Given the description of an element on the screen output the (x, y) to click on. 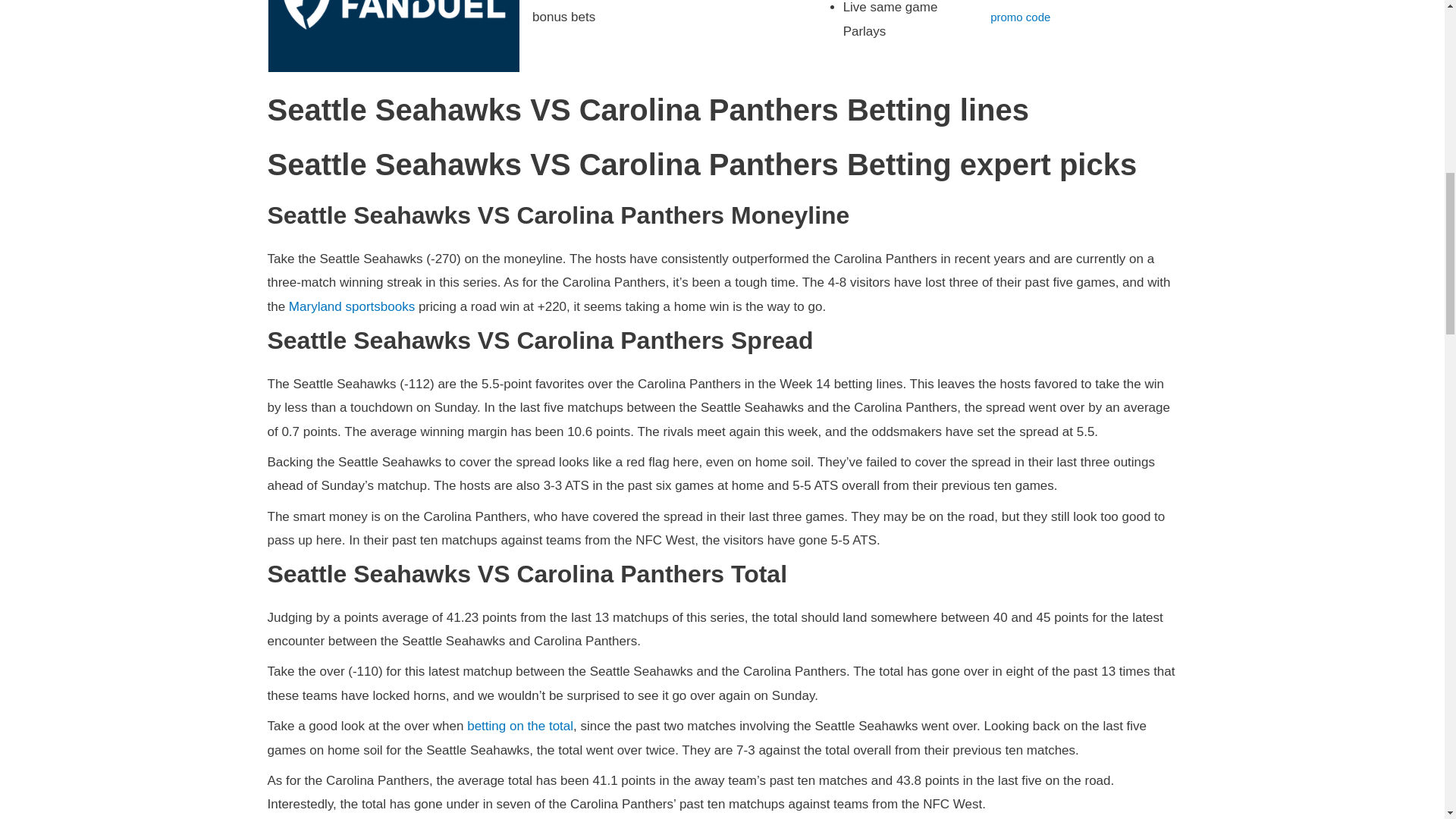
Bet now (1013, 0)
Maryland sportsbooks (351, 306)
FanDuel Maryland promo code (1062, 12)
betting on the total (520, 726)
